Given the description of an element on the screen output the (x, y) to click on. 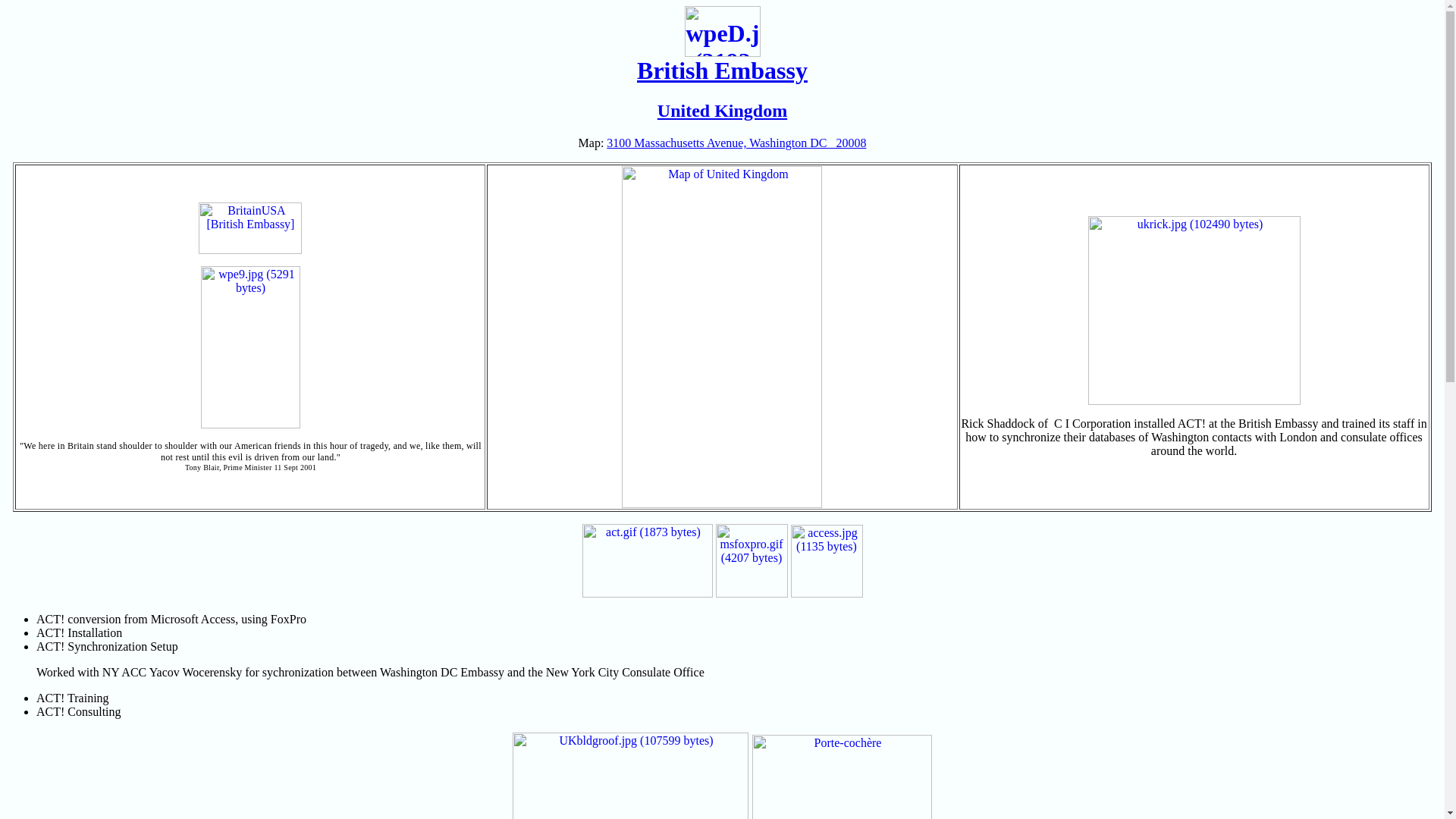
United Kingdom (722, 110)
British Embassy (722, 59)
3100 Massachusetts Avenue, Washington DC   20008 (736, 142)
